Given the description of an element on the screen output the (x, y) to click on. 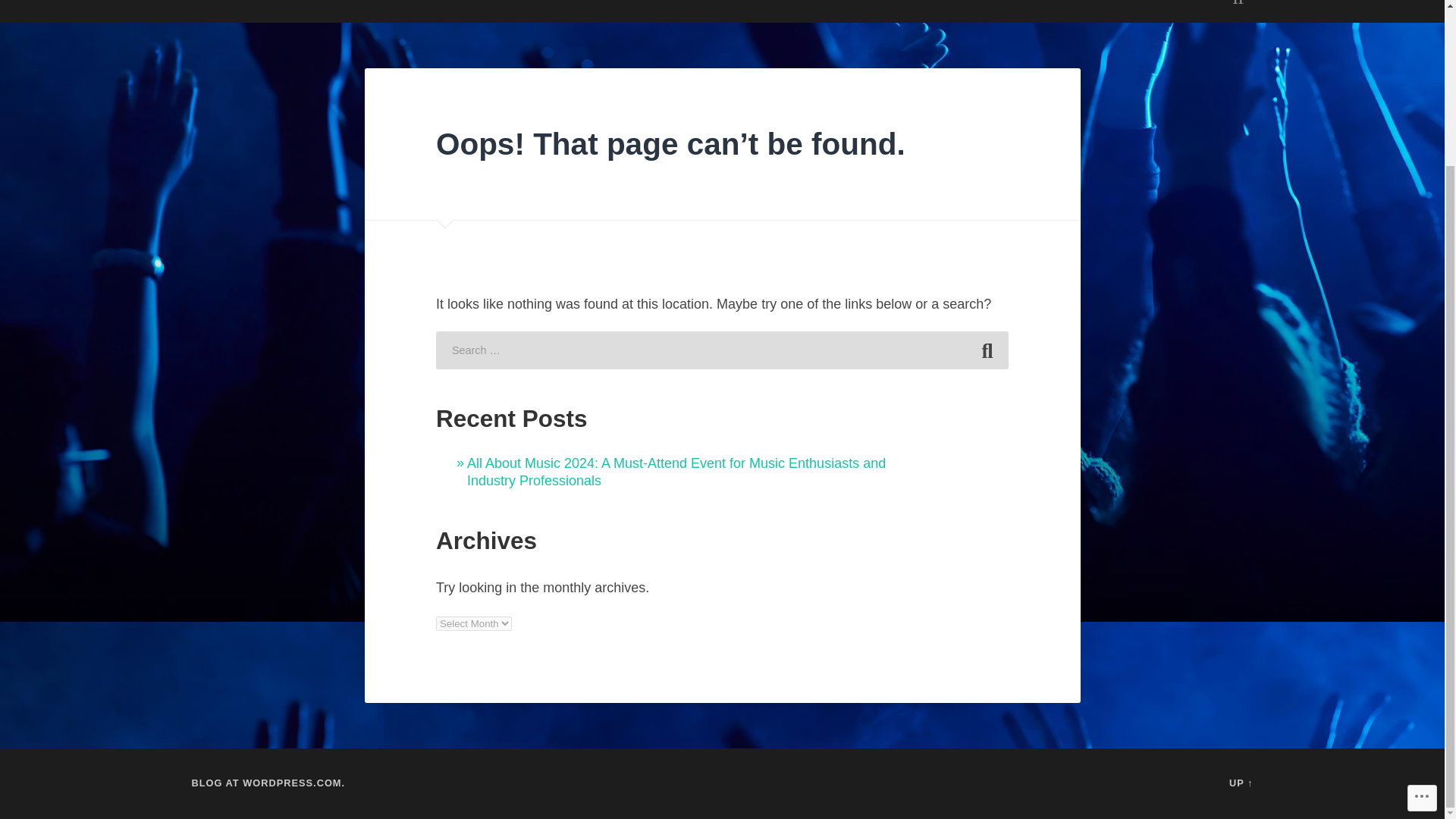
Open Search (1237, 11)
HOME (228, 11)
CONTACT US (526, 11)
CONTACT US (718, 11)
Search (987, 349)
To the top (1240, 782)
BLOG AT WORDPRESS.COM. (267, 782)
HOME (623, 11)
Search (987, 349)
ARTICLES (316, 11)
Search (987, 349)
FEATURED (417, 11)
